Given the description of an element on the screen output the (x, y) to click on. 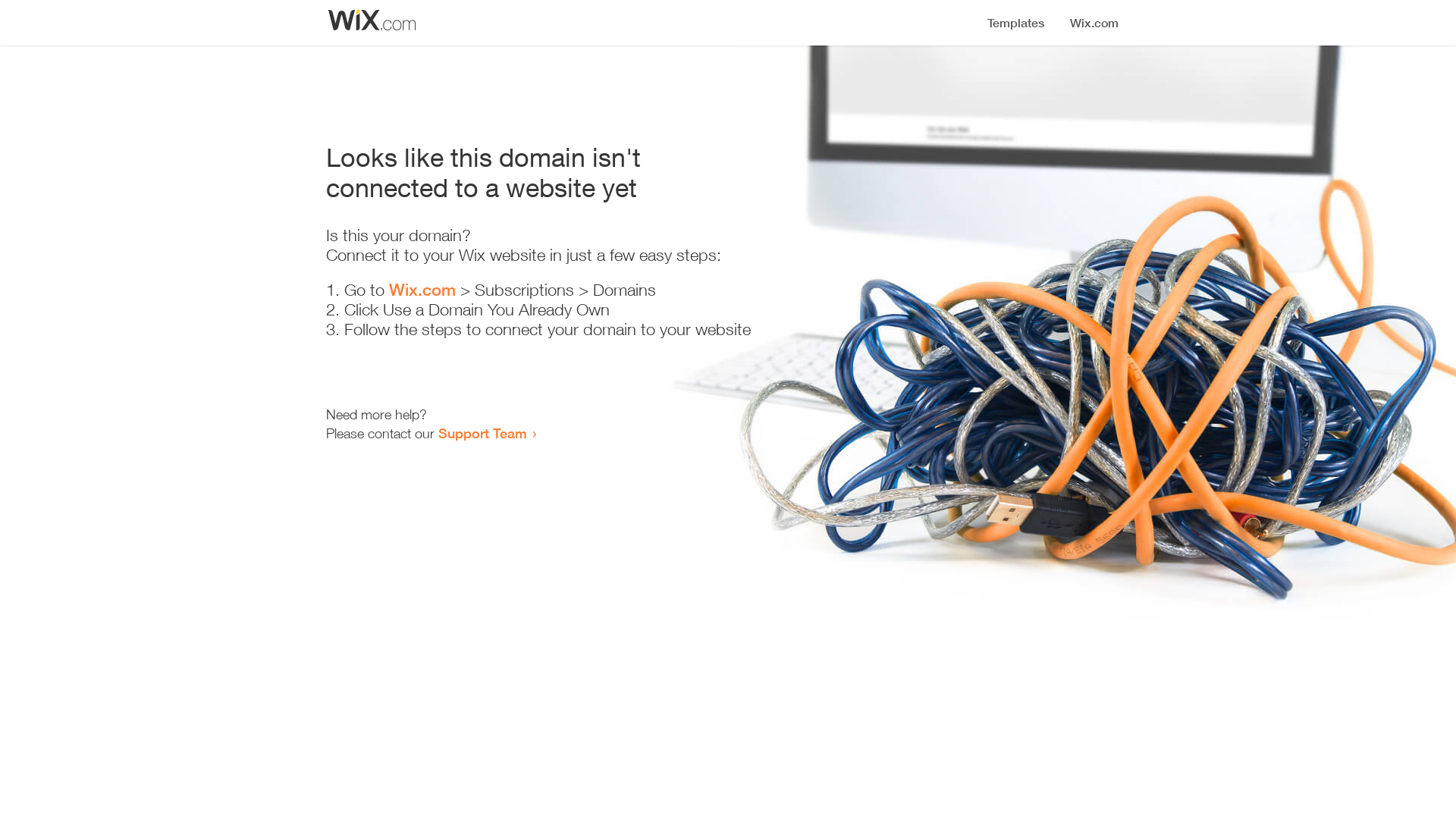
Wix.com Element type: text (422, 289)
Support Team Element type: text (482, 432)
